Given the description of an element on the screen output the (x, y) to click on. 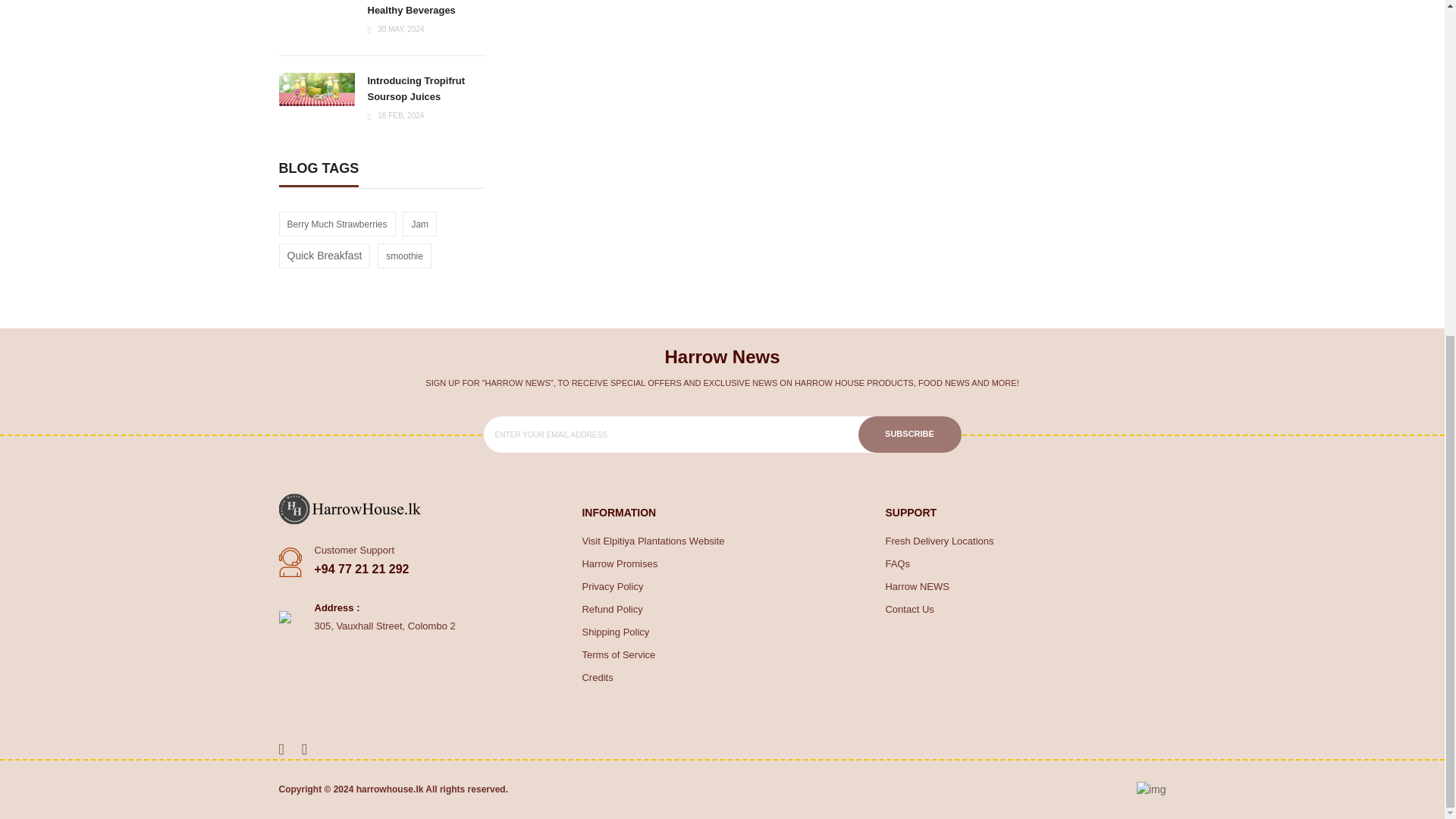
Berry Much Strawberries (336, 224)
Show articles tagged Jam (419, 224)
Show articles tagged smoothie (404, 255)
Show articles tagged Berry Much Strawberries (336, 224)
Jam (419, 224)
smoothie (404, 255)
Introducing Tropifrut Soursop Juices (415, 88)
